Given the description of an element on the screen output the (x, y) to click on. 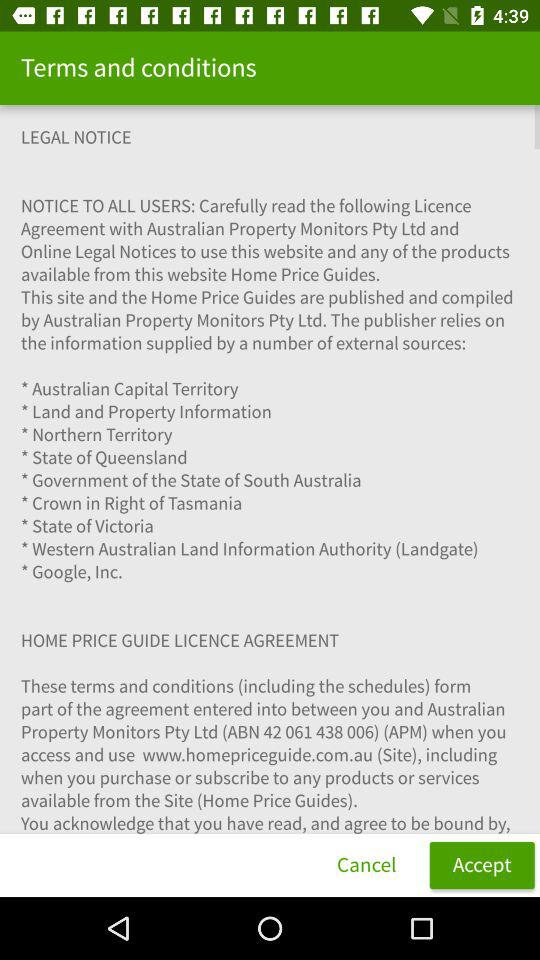
select the icon below the legal notice  item (366, 864)
